Given the description of an element on the screen output the (x, y) to click on. 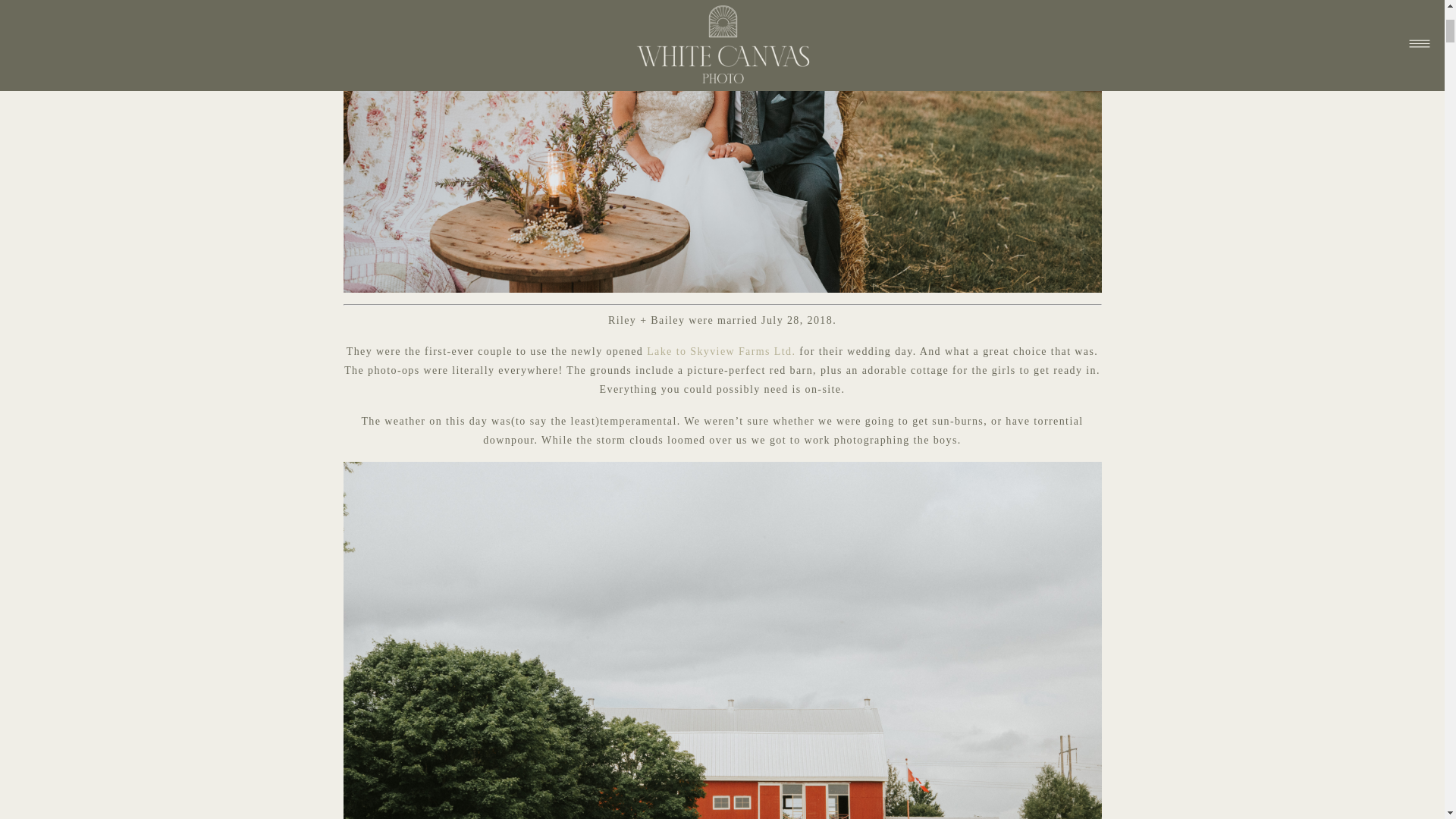
Lake to Skyview Farms Ltd. (720, 351)
